Given the description of an element on the screen output the (x, y) to click on. 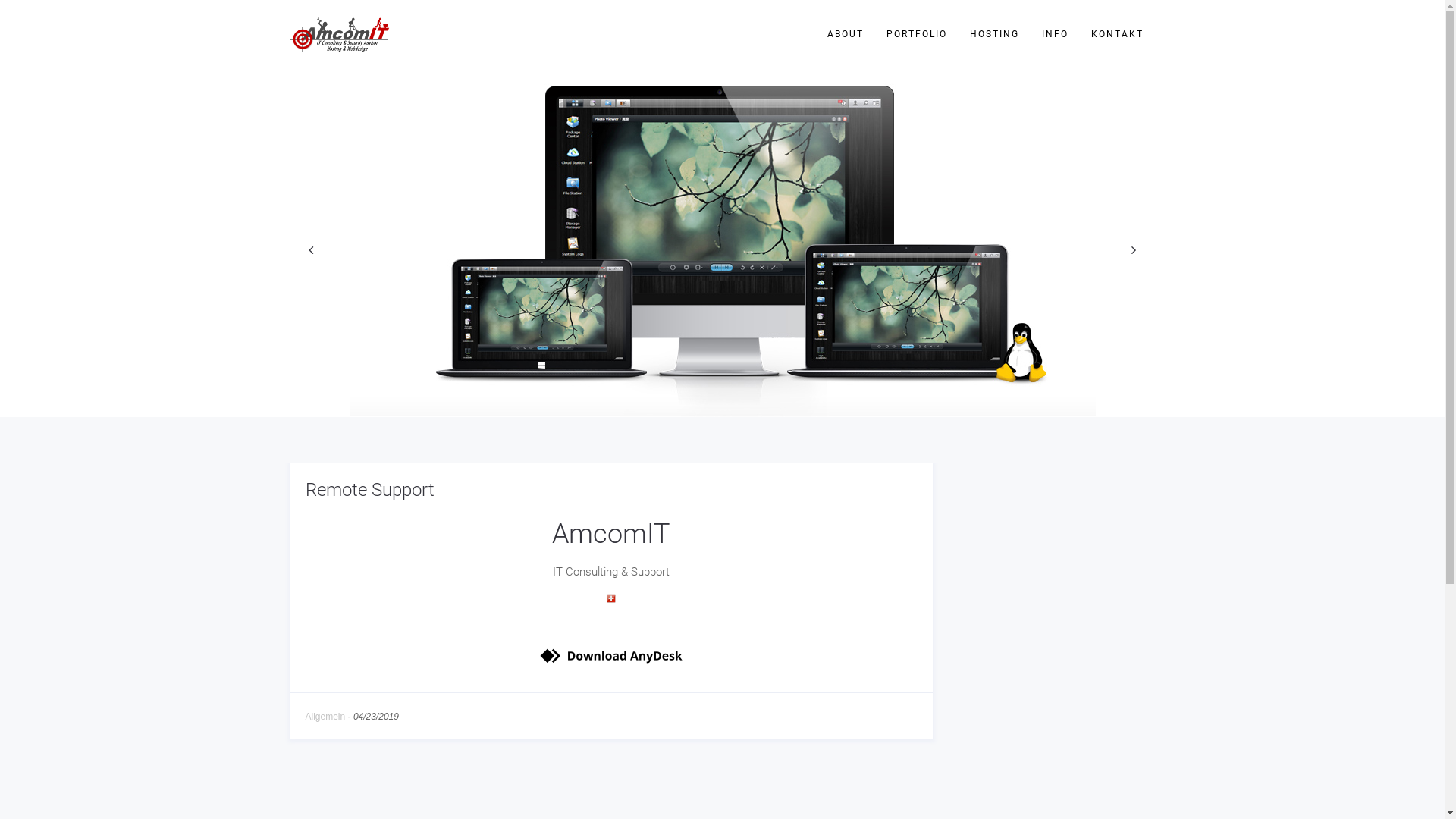
HOSTING Element type: text (994, 34)
Allgemein Element type: text (324, 716)
KONTAKT Element type: text (1116, 34)
PORTFOLIO Element type: text (916, 34)
INFO Element type: text (1054, 34)
Remote Support Element type: text (368, 489)
ABOUT Element type: text (845, 34)
